Given the description of an element on the screen output the (x, y) to click on. 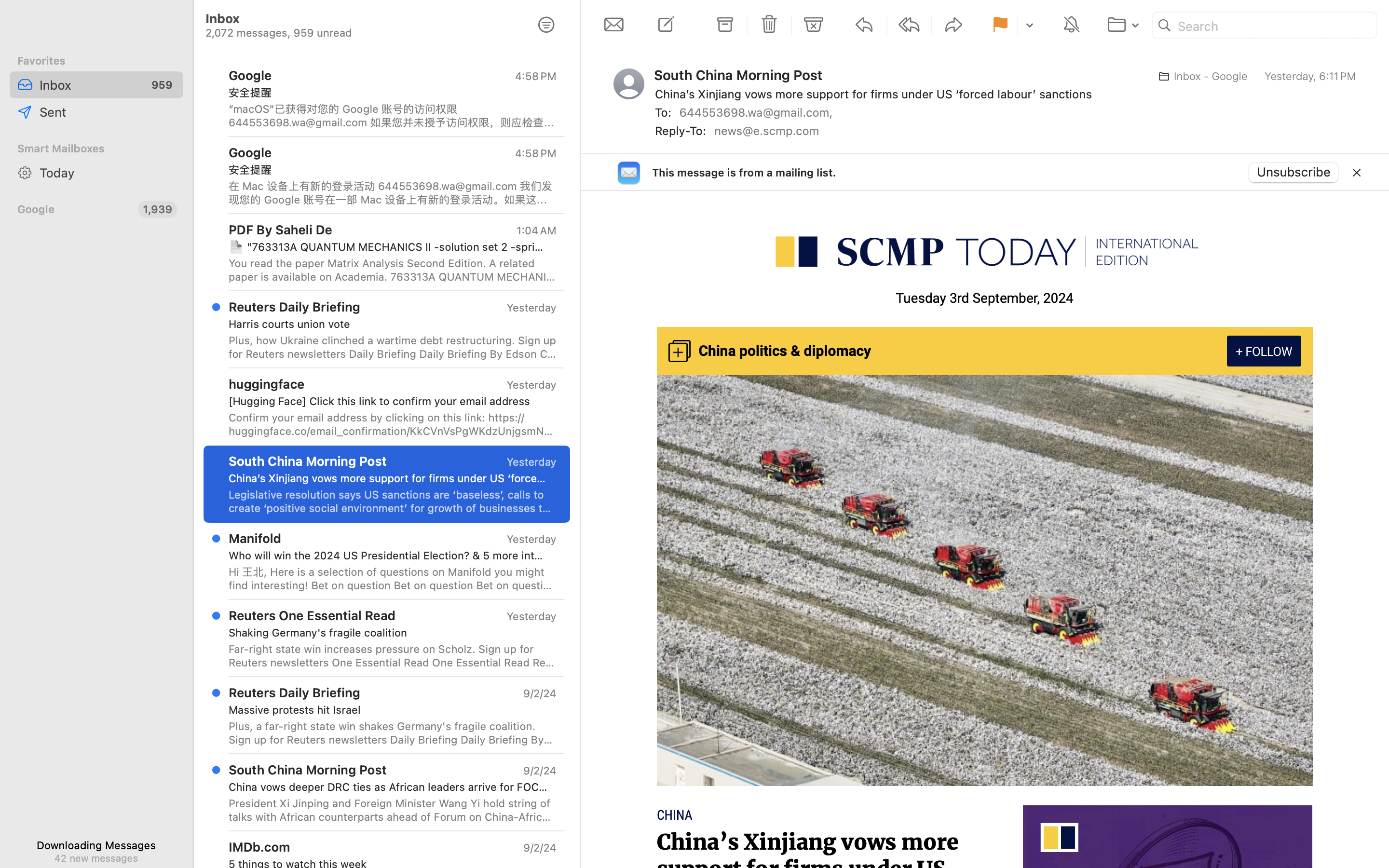
CHINA Element type: AXStaticText (674, 815)
Legislative resolution says US sanctions are ‘baseless’, calls to create ‘positive social environment’ for growth of businesses targeted. - South China Morning Post, SCMP, SCMP Today: Intl Edition - Legislative resolution says US sanctions are ‘baseless’, calls to create ‘positive social environment’ for growth of businesses targeted. Tuesday 3rd September, 2024 China politics & diplomacy ChinaChina’s Xinjiang vows more support for firms under US ‘forced labour’ sanctions3 Sep, 2024 - 04:36 pmLegislative resolution says US sanctions are ‘baseless’, calls to create ‘positive social environment’ for growth of businesses targeted. China11 dead in eastern China, driver detained after bus hits crowd outside school3 Sep, 2024 - 04:43 pm ChinaChinese researchers’ implant genetically modifies brain cells for neuron growth3 Sep, 2024 - 04:06 pm Featured Podcast3. Millennials, GenZ and hire education Video Of The Day China and Singapore embark on bigger joint navy exercise as South China Sea ten Element type: AXStaticText (392, 501)
Shaking Germany's fragile coalition Element type: AXStaticText (388, 632)
Harris courts union vote Element type: AXStaticText (388, 323)
You read the paper Matrix Analysis Second Edition. A related paper is available on Academia. 763313A QUANTUM MECHANICS II -solution set 2 -spring 2014 Saheli De 237 Views View PDF ▸ Download PDF ⬇ Your recent reading history: Matrix Analysis Second Edition - Benedict Cui Want fewer recommendations like this one? 580 California St., Suite 400, San Francisco, CA, 94104 Unsubscribe Privacy Policy Terms of Service © 2024 Academia Element type: AXStaticText (392, 269)
